Given the description of an element on the screen output the (x, y) to click on. 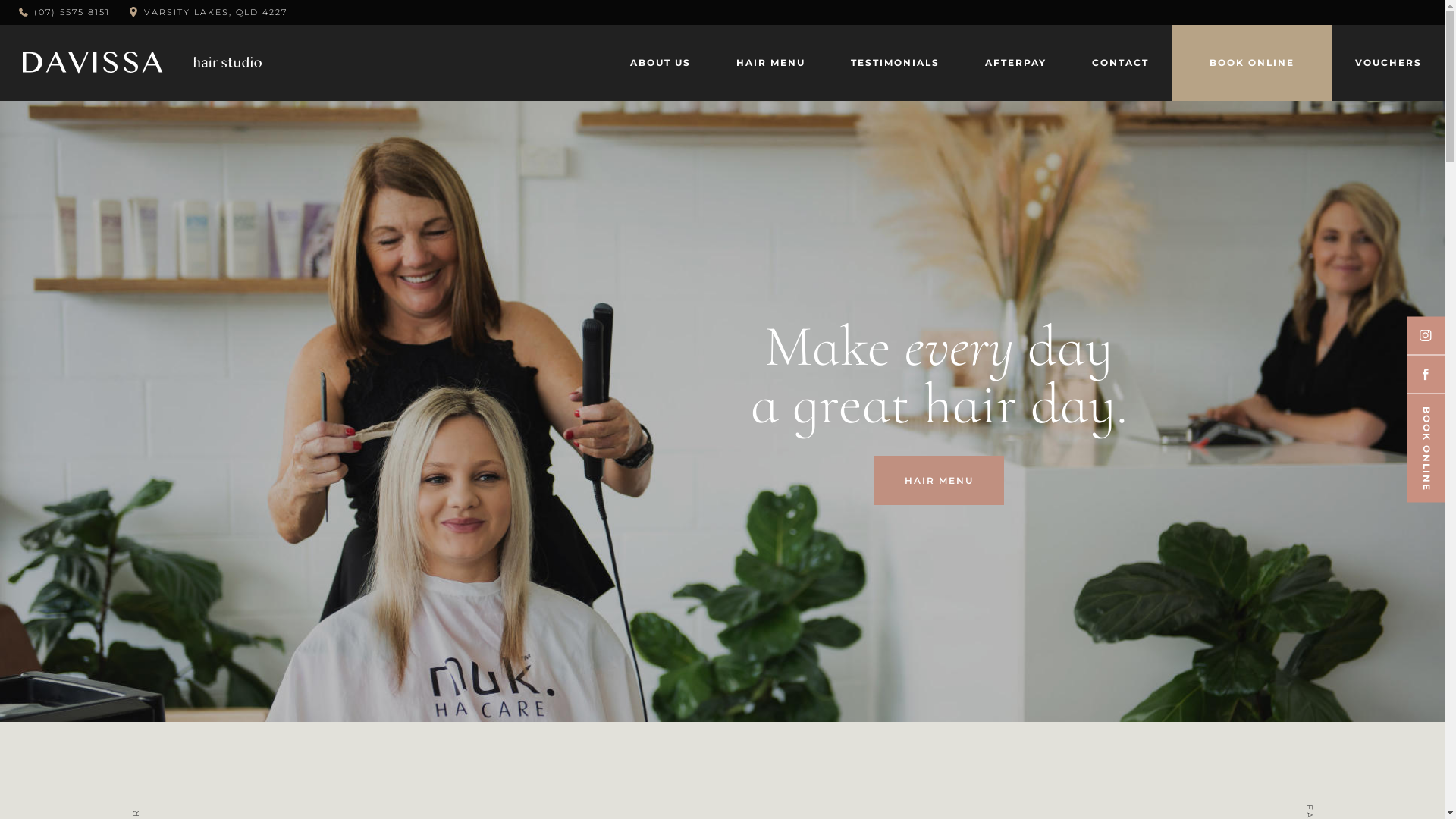
VOUCHERS Element type: text (1388, 62)
TESTIMONIALS Element type: text (895, 62)
HAIR MENU Element type: text (770, 62)
BOOK ONLINE Element type: text (1251, 62)
AFTERPAY Element type: text (1015, 62)
CONTACT Element type: text (1120, 62)
ABOUT US Element type: text (660, 62)
VARSITY LAKES, QLD 4227 Element type: text (215, 11)
(07) 5575 8151 Element type: text (63, 11)
HAIR MENU Element type: text (939, 480)
